Given the description of an element on the screen output the (x, y) to click on. 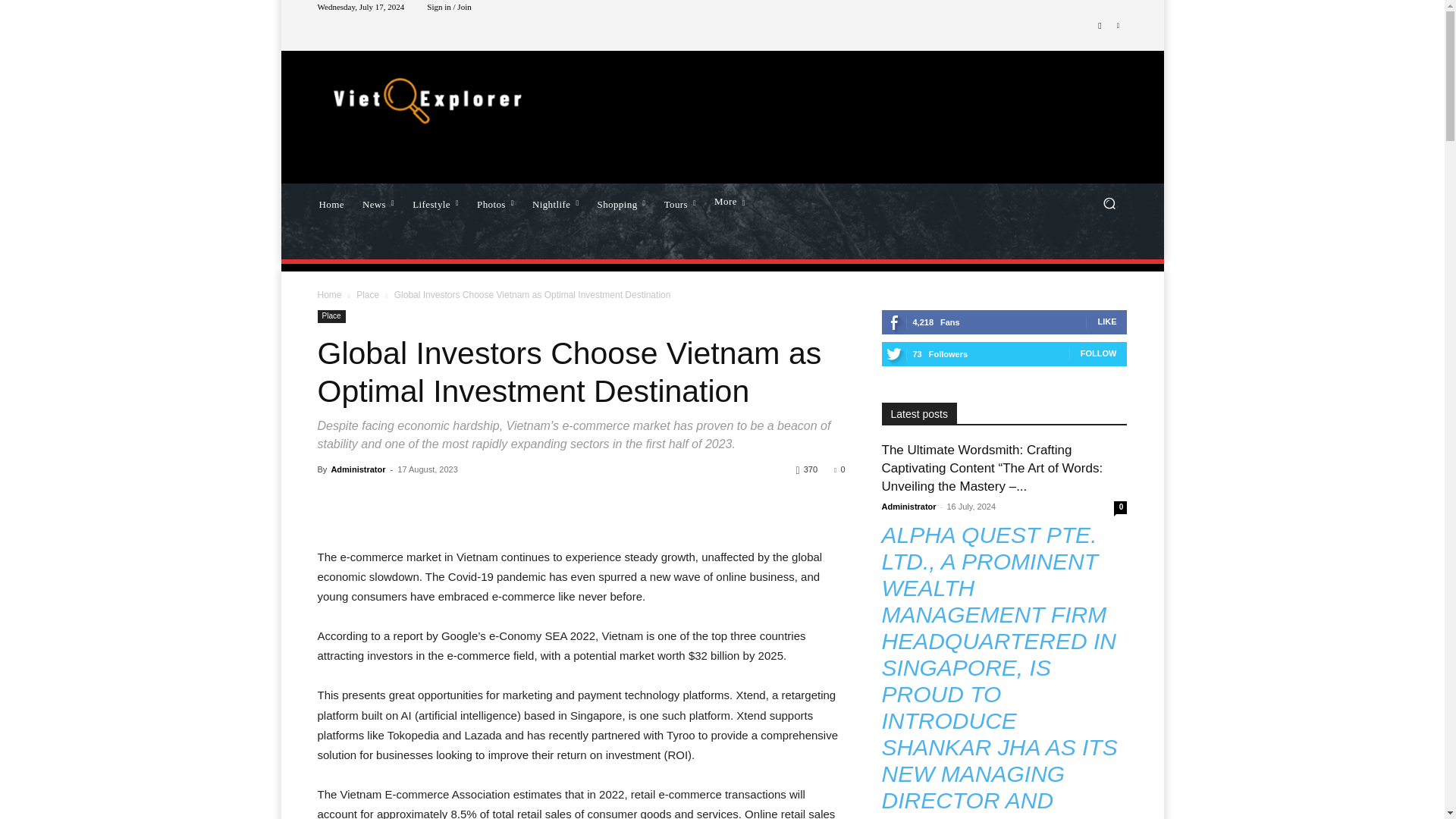
News (378, 202)
Twitter (1117, 25)
Lifestyle (435, 202)
Facebook (1099, 25)
Home (330, 202)
